Given the description of an element on the screen output the (x, y) to click on. 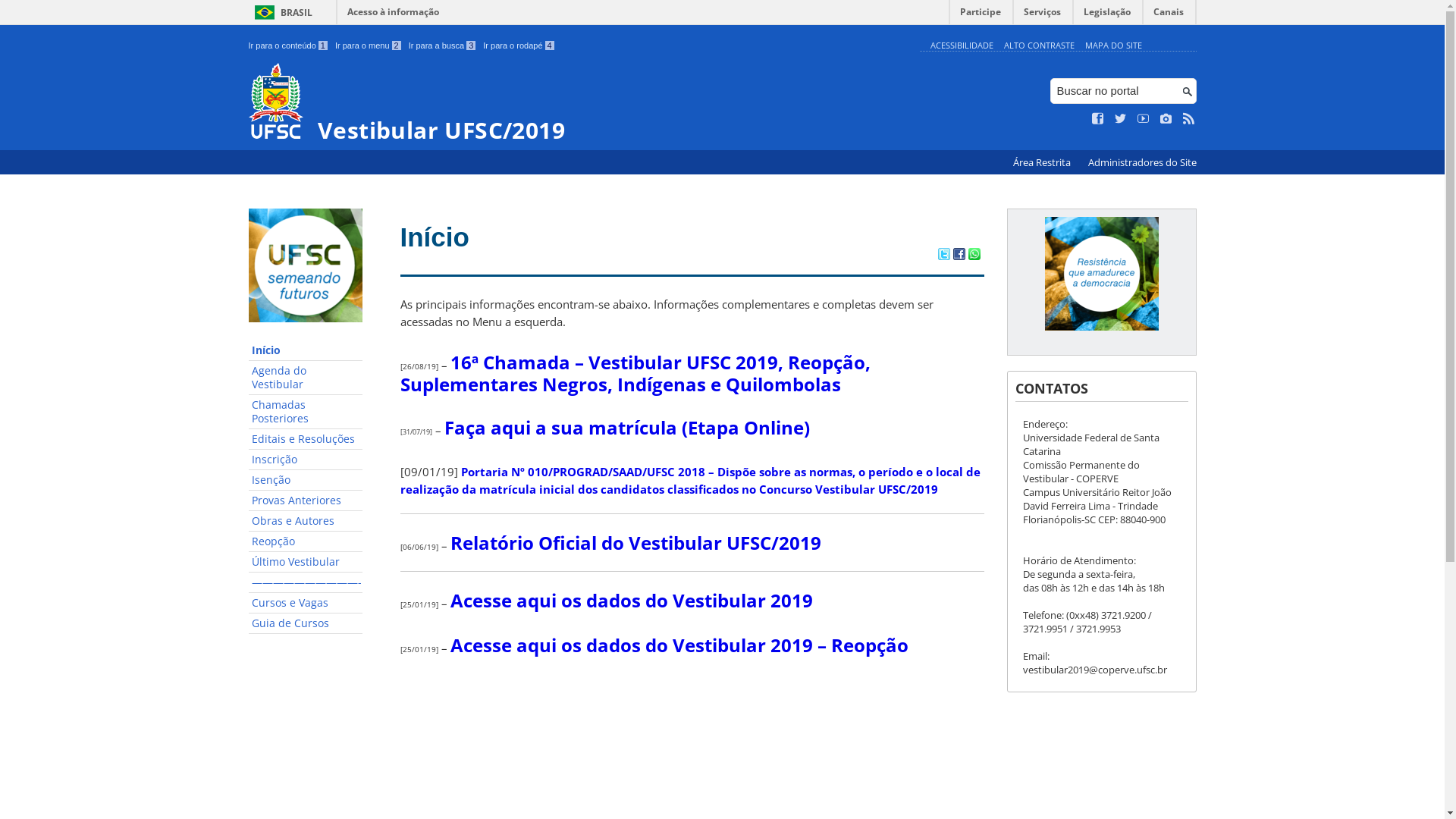
Compartilhar no Twitter Element type: hover (943, 255)
Administradores do Site Element type: text (1141, 162)
Cursos e Vagas Element type: text (305, 603)
Canais Element type: text (1169, 15)
BRASIL Element type: text (280, 12)
MAPA DO SITE Element type: text (1112, 44)
Provas Anteriores Element type: text (305, 500)
Obras e Autores Element type: text (305, 521)
Siga no Twitter Element type: hover (1120, 118)
Agenda do Vestibular Element type: text (305, 377)
Chamadas Posteriores Element type: text (305, 412)
Compartilhar no Facebook Element type: hover (958, 255)
Ir para a busca 3 Element type: text (442, 45)
ALTO CONTRASTE Element type: text (1039, 44)
Compartilhar no WhatsApp Element type: hover (973, 255)
Vestibular UFSC/2019 Element type: text (580, 102)
Veja no Instagram Element type: hover (1166, 118)
Participe Element type: text (980, 15)
Acesse aqui os dados do Vestibular 2019 Element type: text (631, 599)
Ir para o menu 2 Element type: text (368, 45)
Guia de Cursos Element type: text (305, 623)
ACESSIBILIDADE Element type: text (960, 44)
Curta no Facebook Element type: hover (1098, 118)
